Given the description of an element on the screen output the (x, y) to click on. 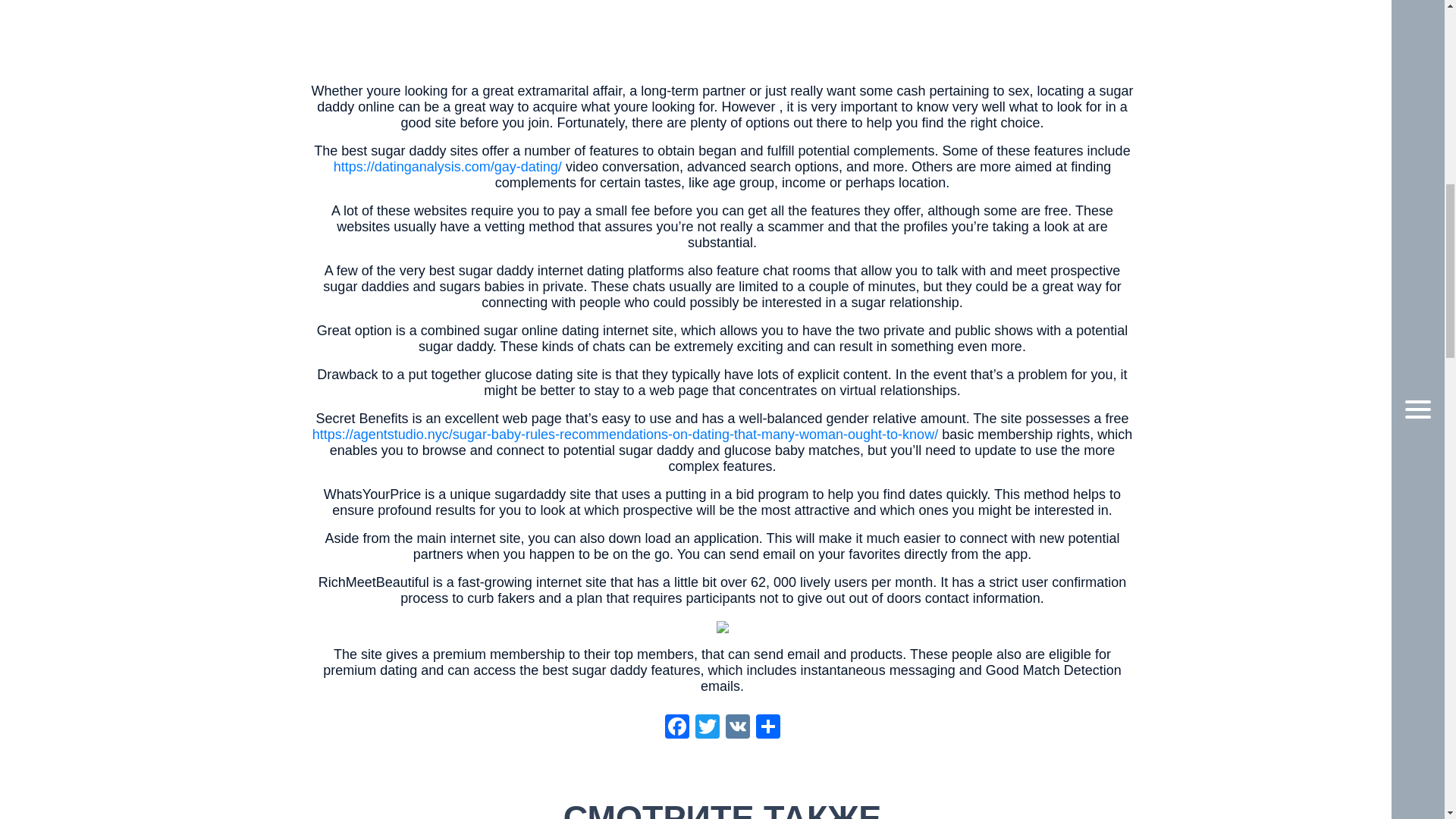
VK (737, 728)
Twitter (706, 728)
VK (737, 728)
Facebook (676, 728)
Facebook (676, 728)
Twitter (706, 728)
